Given the description of an element on the screen output the (x, y) to click on. 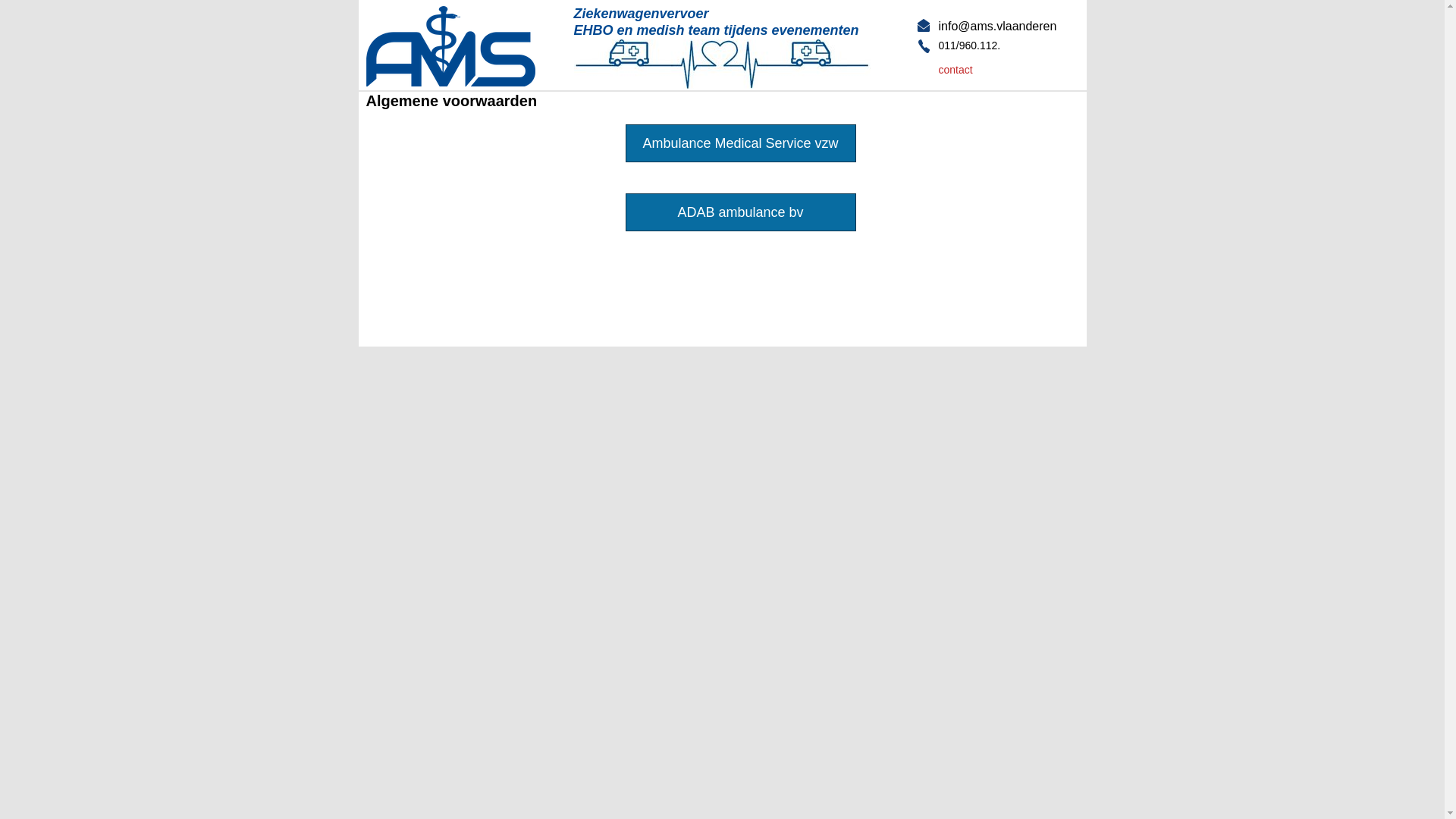
info@ams.vlaanderen Element type: text (997, 25)
medische opleidingen Element type: hover (922, 46)
011/960.112. Element type: text (969, 45)
contact Element type: text (955, 69)
evenementen hulpverlening Element type: hover (923, 25)
AMS Element type: hover (449, 46)
ADAB ambulance bv Element type: text (740, 212)
Ambulance Medical Service vzw Element type: text (740, 143)
